Given the description of an element on the screen output the (x, y) to click on. 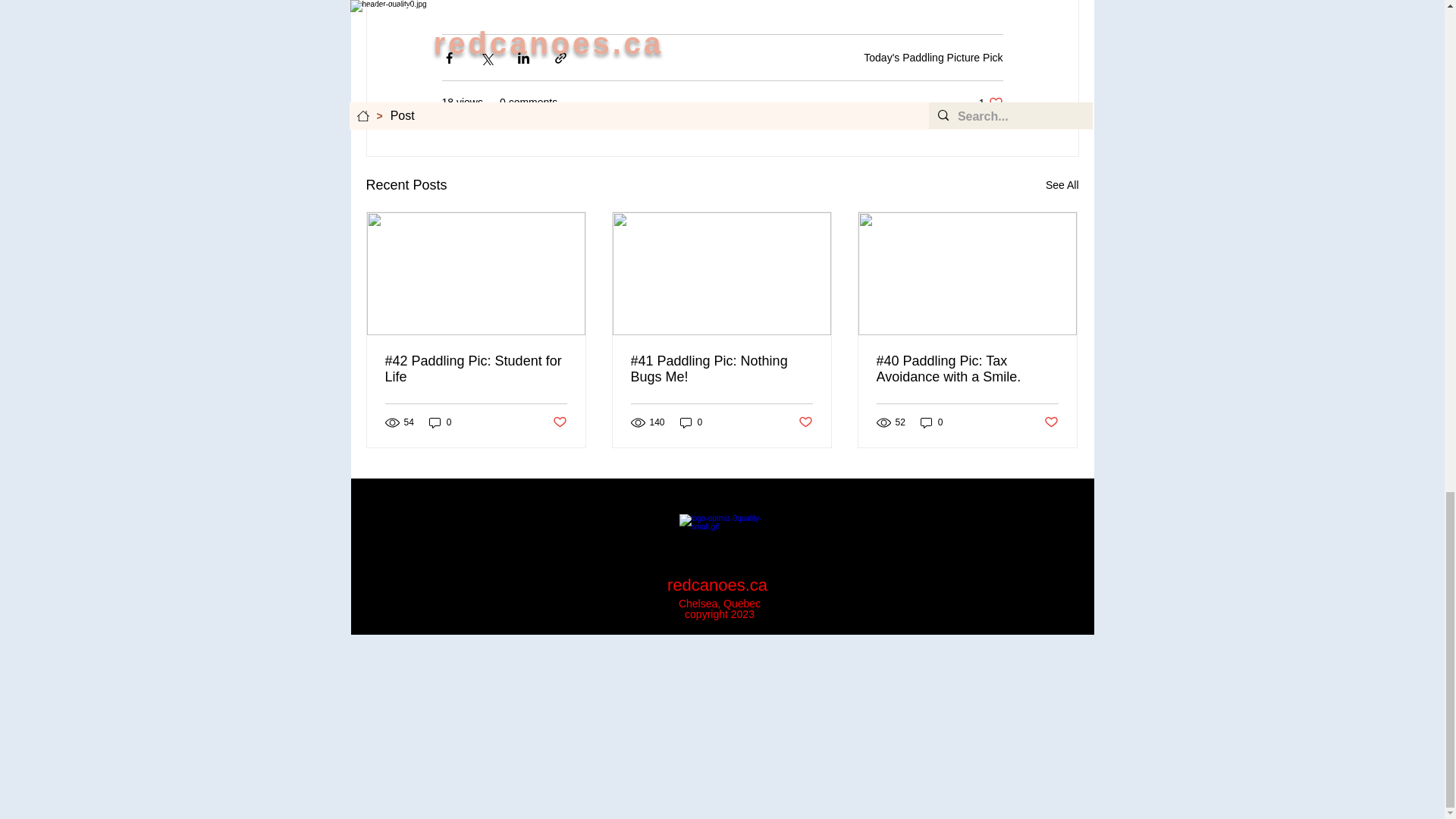
Today's Paddling Picture Pick (933, 57)
